Given the description of an element on the screen output the (x, y) to click on. 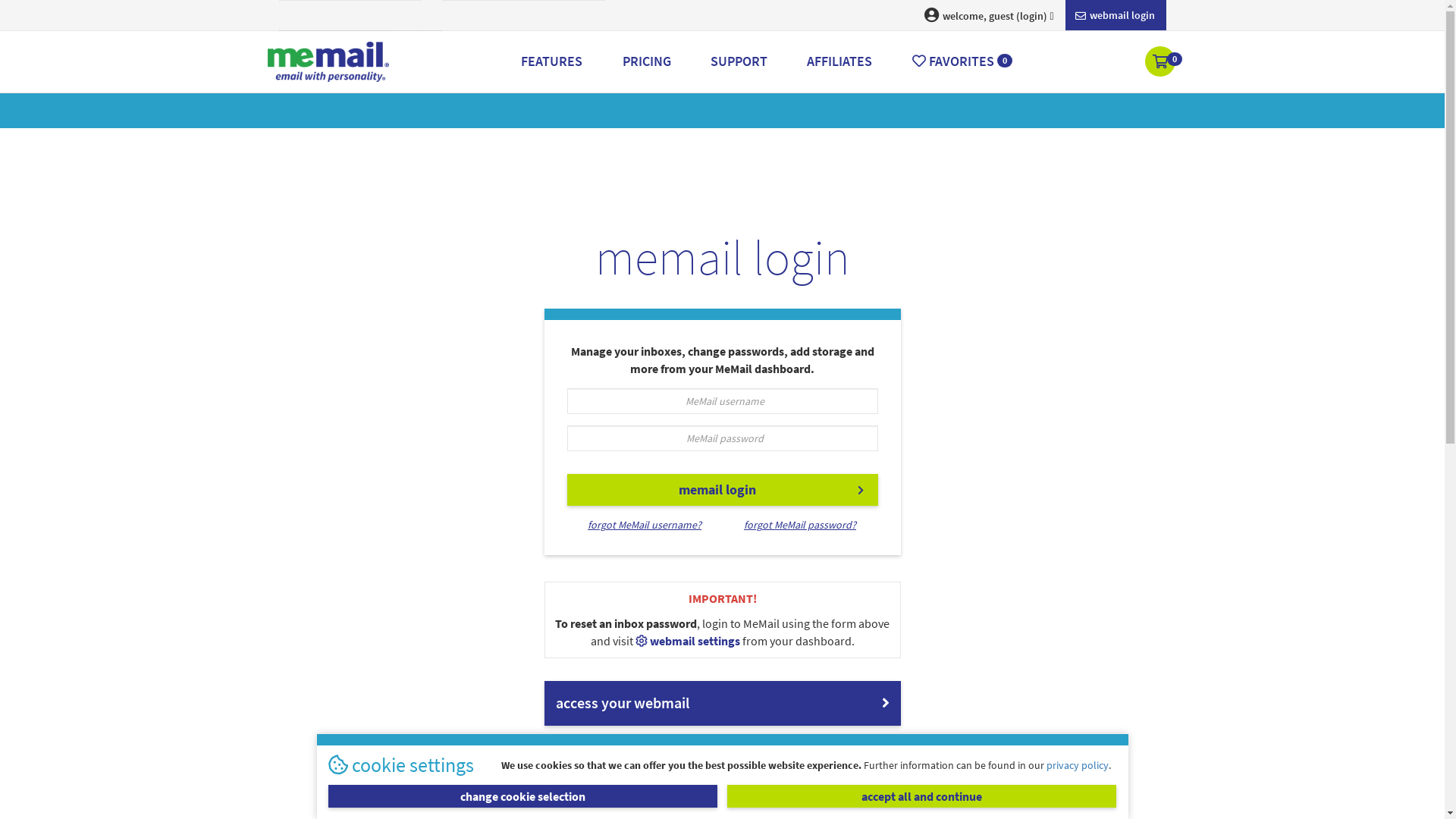
forgot MeMail username? Element type: text (644, 524)
change cookie selection Element type: text (522, 795)
AFFILIATES Element type: text (839, 61)
FEATURES Element type: text (551, 61)
webmail settings Element type: text (688, 640)
memail login Element type: text (722, 489)
  0 Element type: text (1161, 62)
SUPPORT Element type: text (738, 61)
welcome, guest (login) Element type: text (988, 15)
privacy policy Element type: text (1077, 764)
 webmail login Element type: text (1114, 15)
forgot MeMail password? Element type: text (799, 524)
access your webmail Element type: text (722, 702)
 FAVORITES 0 Element type: text (962, 61)
PRICING Element type: text (646, 61)
accept all and continue Element type: text (921, 795)
